Given the description of an element on the screen output the (x, y) to click on. 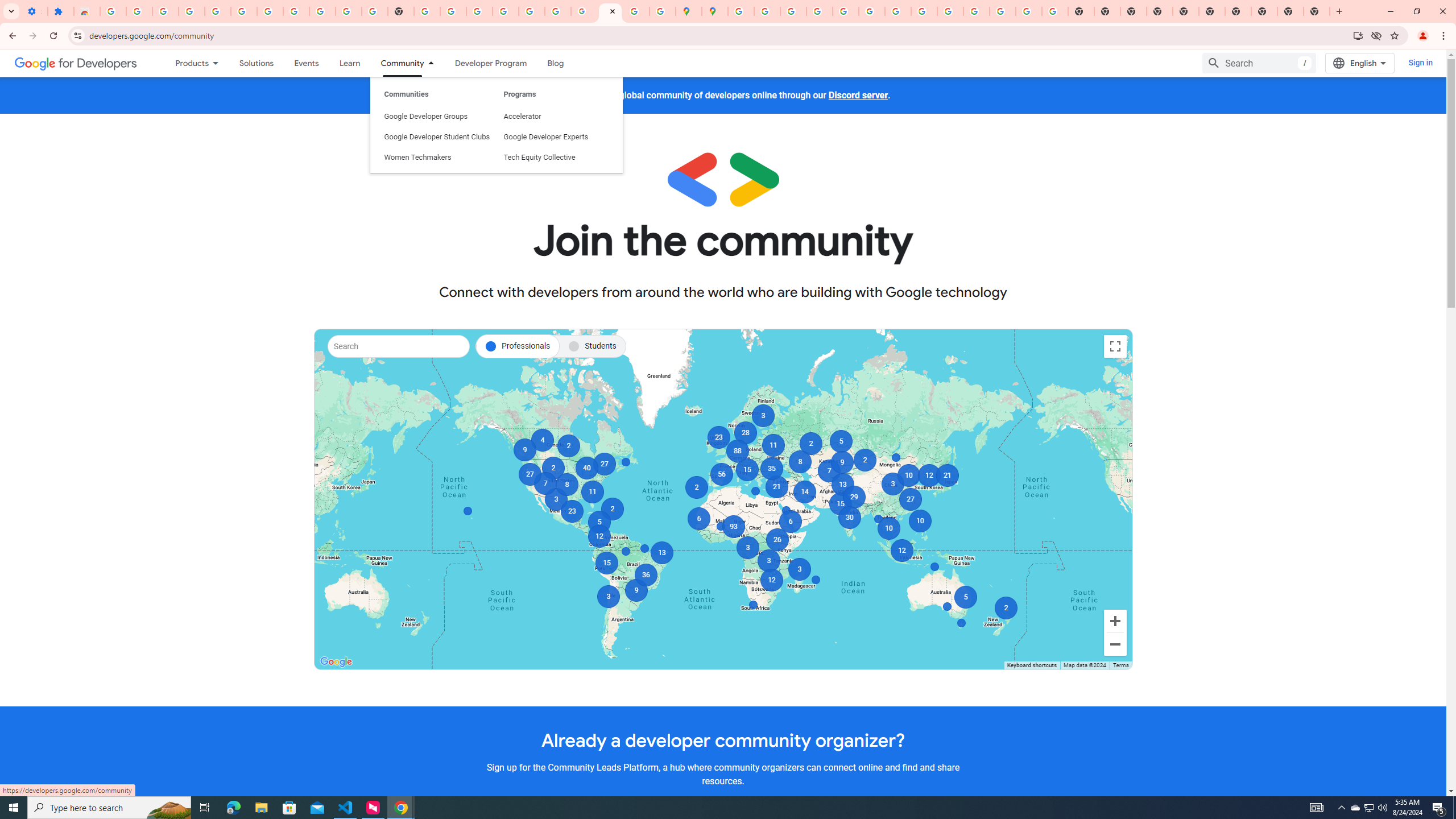
Keyboard shortcuts (1031, 665)
40 (586, 468)
2 (611, 508)
4 (541, 440)
9 (523, 449)
Safety in Our Products - Google Safety Center (663, 11)
Dropdown menu for Community (433, 62)
8 (566, 484)
30 (848, 517)
Developer Program (490, 62)
Sign in - Google Accounts (112, 11)
